Given the description of an element on the screen output the (x, y) to click on. 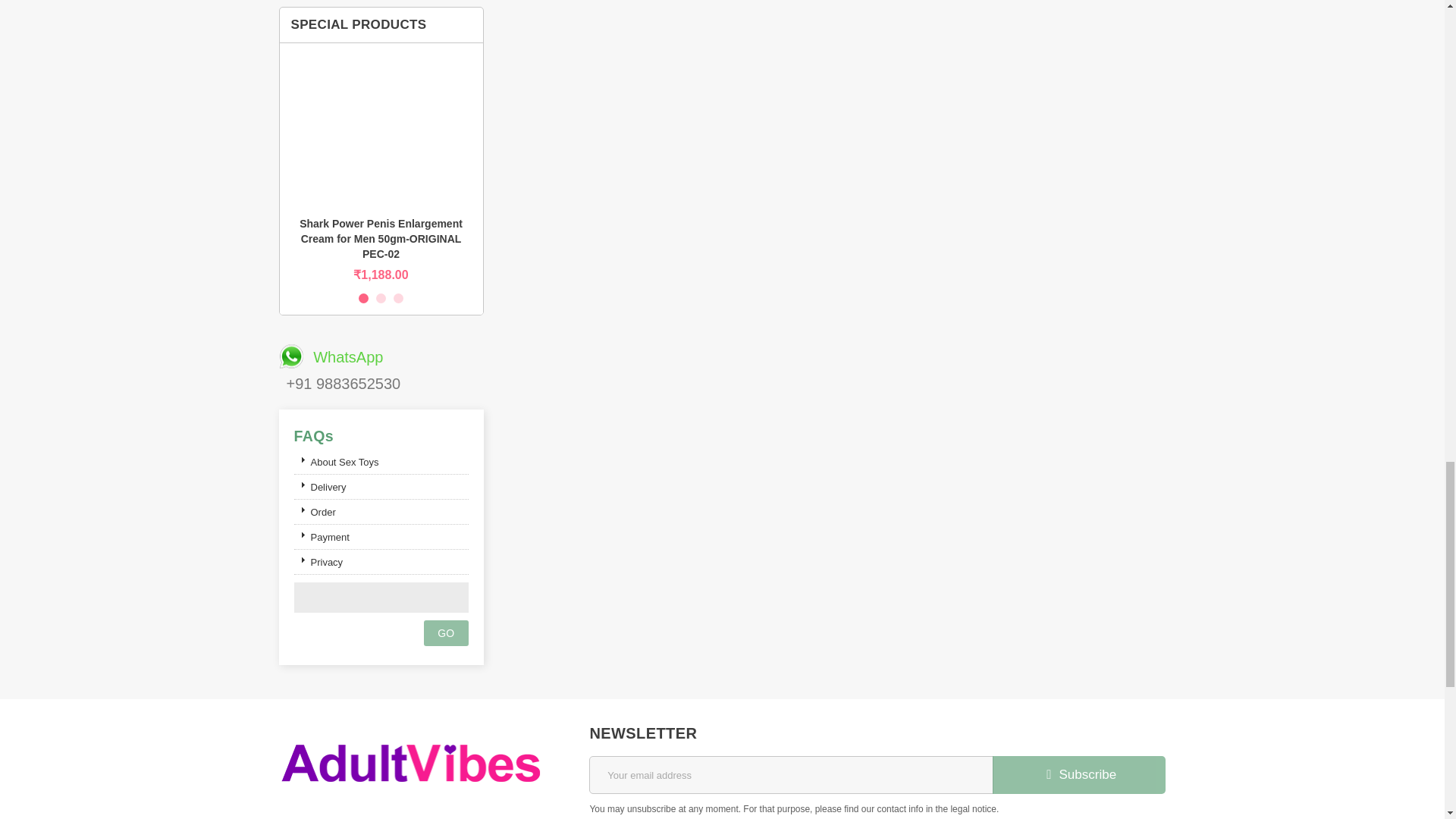
Go (445, 632)
